Given the description of an element on the screen output the (x, y) to click on. 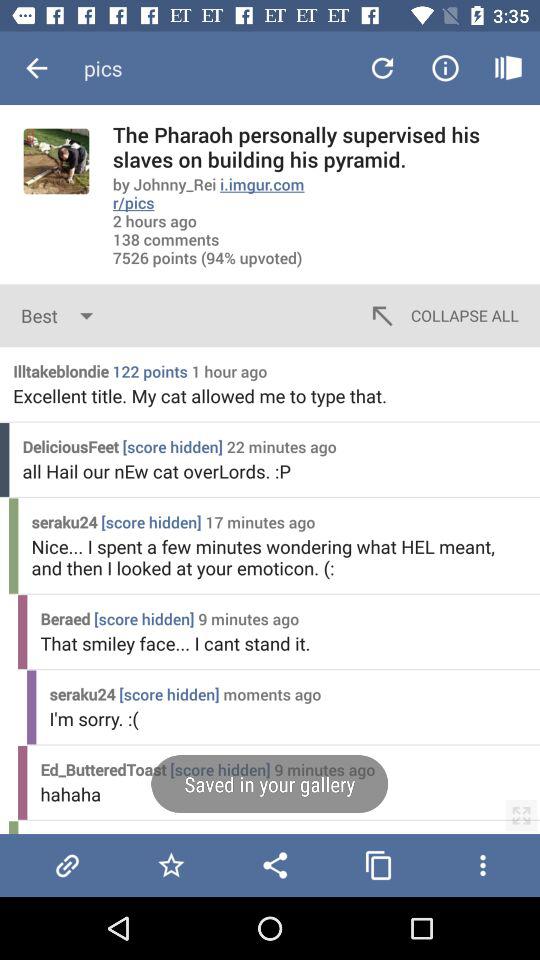
open gallery (378, 865)
